Given the description of an element on the screen output the (x, y) to click on. 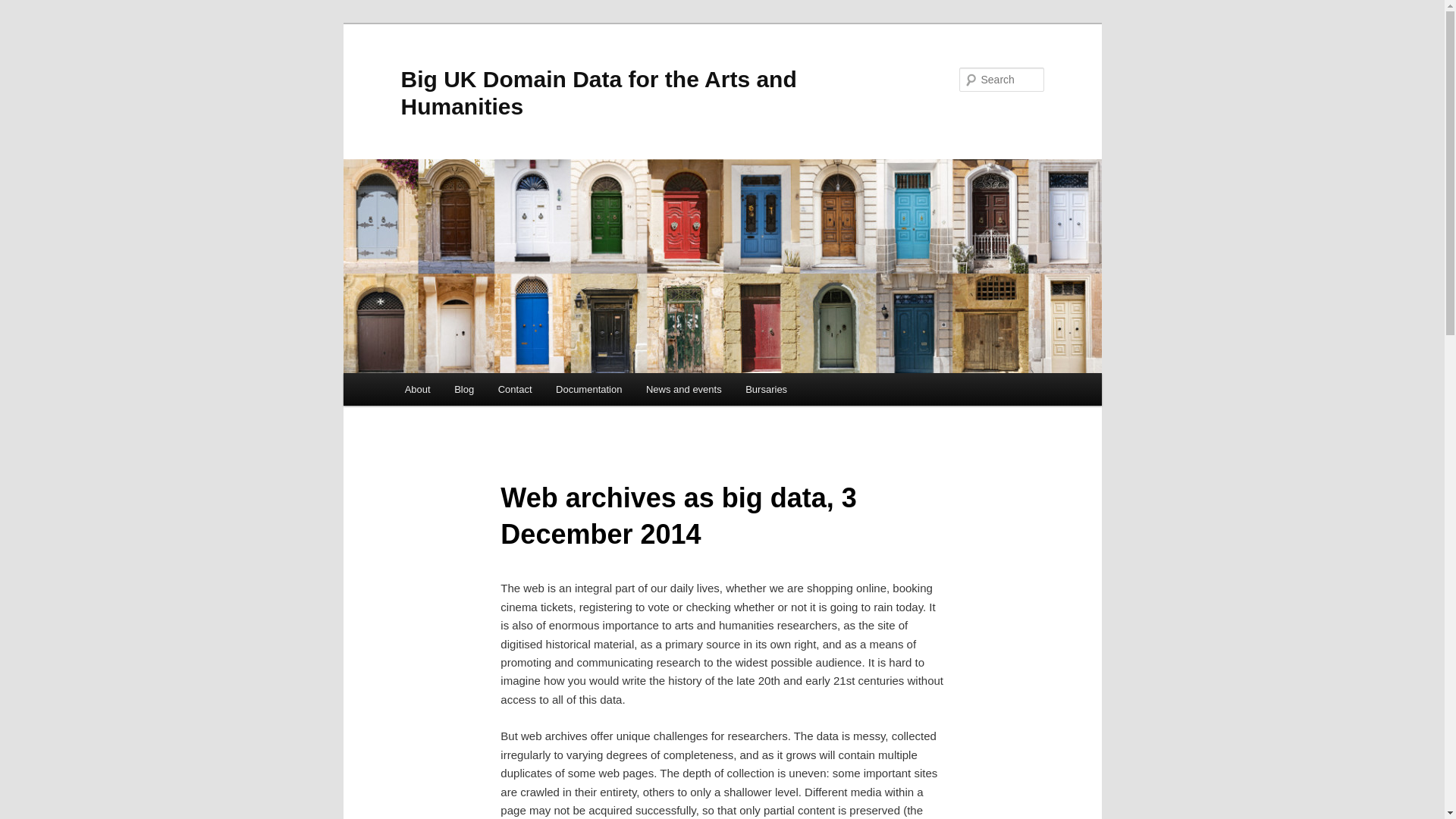
News and events (683, 389)
Big UK Domain Data for the Arts and Humanities (598, 92)
About (417, 389)
Search (24, 8)
Blog (464, 389)
Bursaries (765, 389)
Contact (514, 389)
Documentation (588, 389)
